Given the description of an element on the screen output the (x, y) to click on. 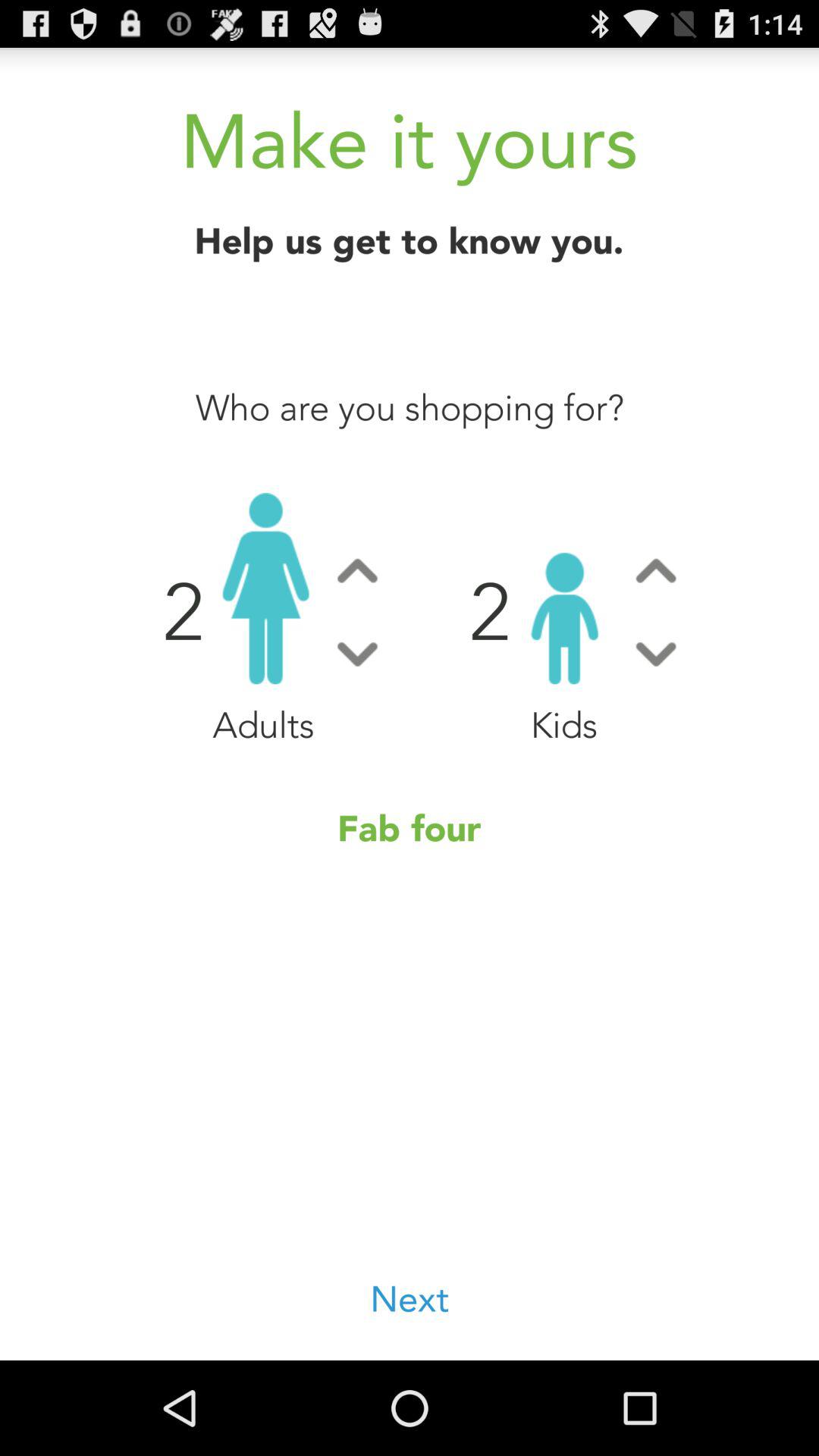
move up (357, 570)
